Given the description of an element on the screen output the (x, y) to click on. 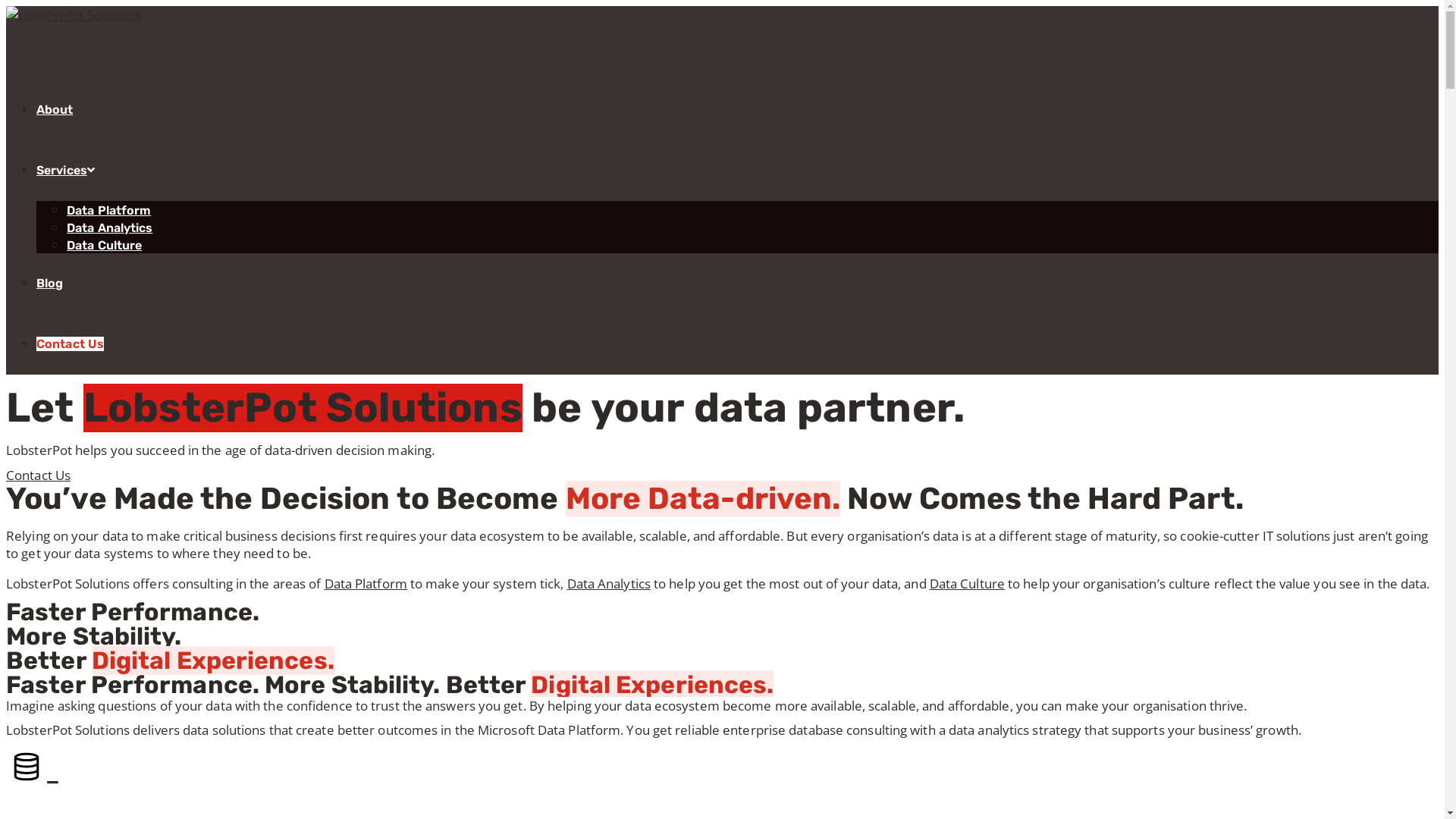
Services Element type: text (65, 170)
About Element type: text (54, 109)
Data Analytics Element type: text (608, 583)
Data Platform Element type: text (108, 210)
Contact Us Element type: text (38, 474)
Blog Element type: text (49, 283)
Data Culture Element type: text (103, 245)
Contact Us Element type: text (69, 343)
Data Culture Element type: text (966, 583)
Data Analytics Element type: text (109, 227)
Skip to content Element type: text (5, 5)
Data Platform Element type: text (365, 583)
